Given the description of an element on the screen output the (x, y) to click on. 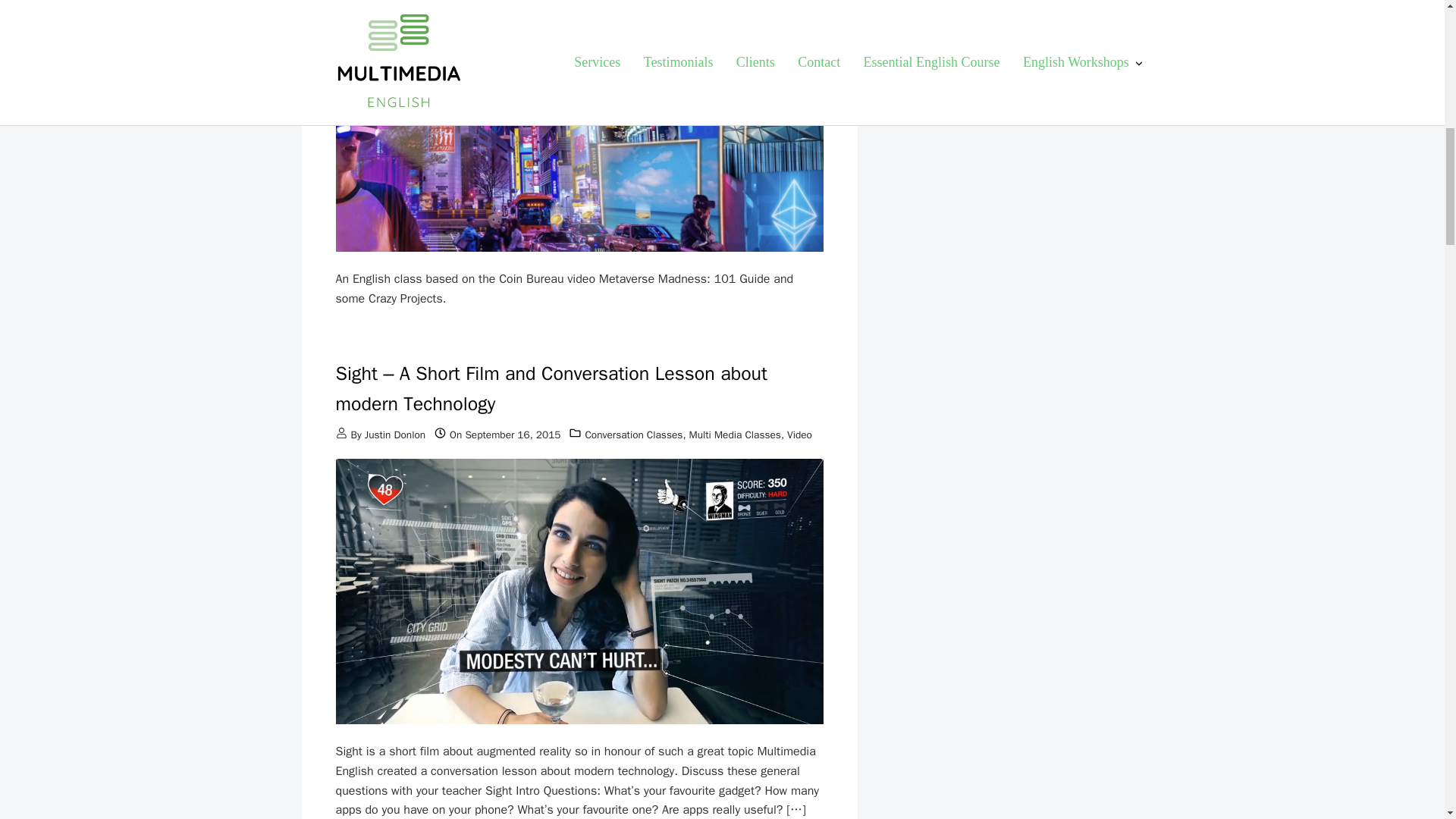
September 16, 2015 (512, 434)
Video (799, 434)
Multi Media Classes (734, 434)
Conversation Classes (633, 434)
Justin Donlon (395, 434)
